Given the description of an element on the screen output the (x, y) to click on. 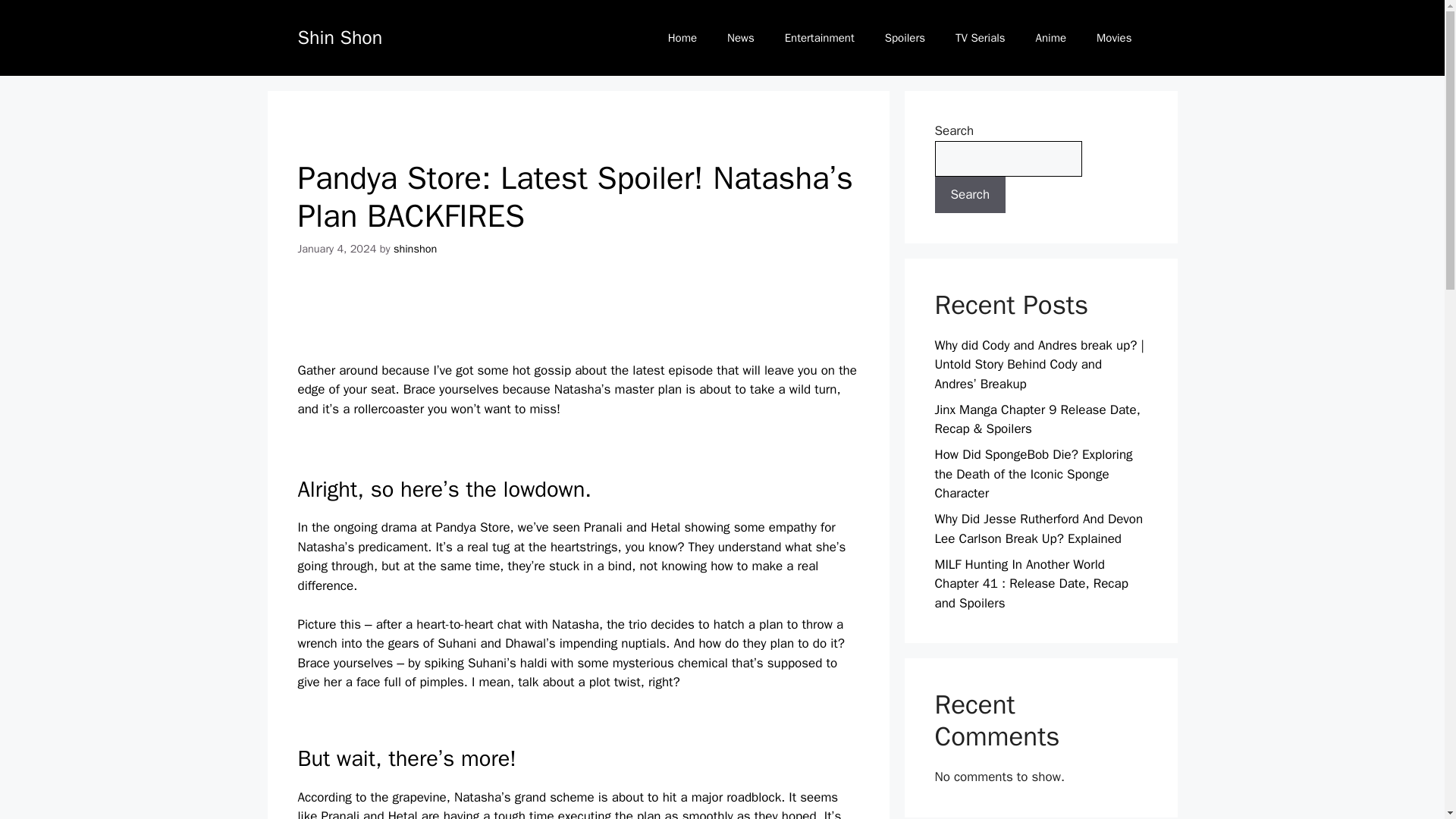
Movies (1114, 37)
News (740, 37)
Entertainment (819, 37)
View all posts by shinshon (414, 248)
Spoilers (904, 37)
TV Serials (980, 37)
Search (970, 194)
Home (681, 37)
shinshon (414, 248)
Anime (1050, 37)
Shin Shon (339, 37)
